Given the description of an element on the screen output the (x, y) to click on. 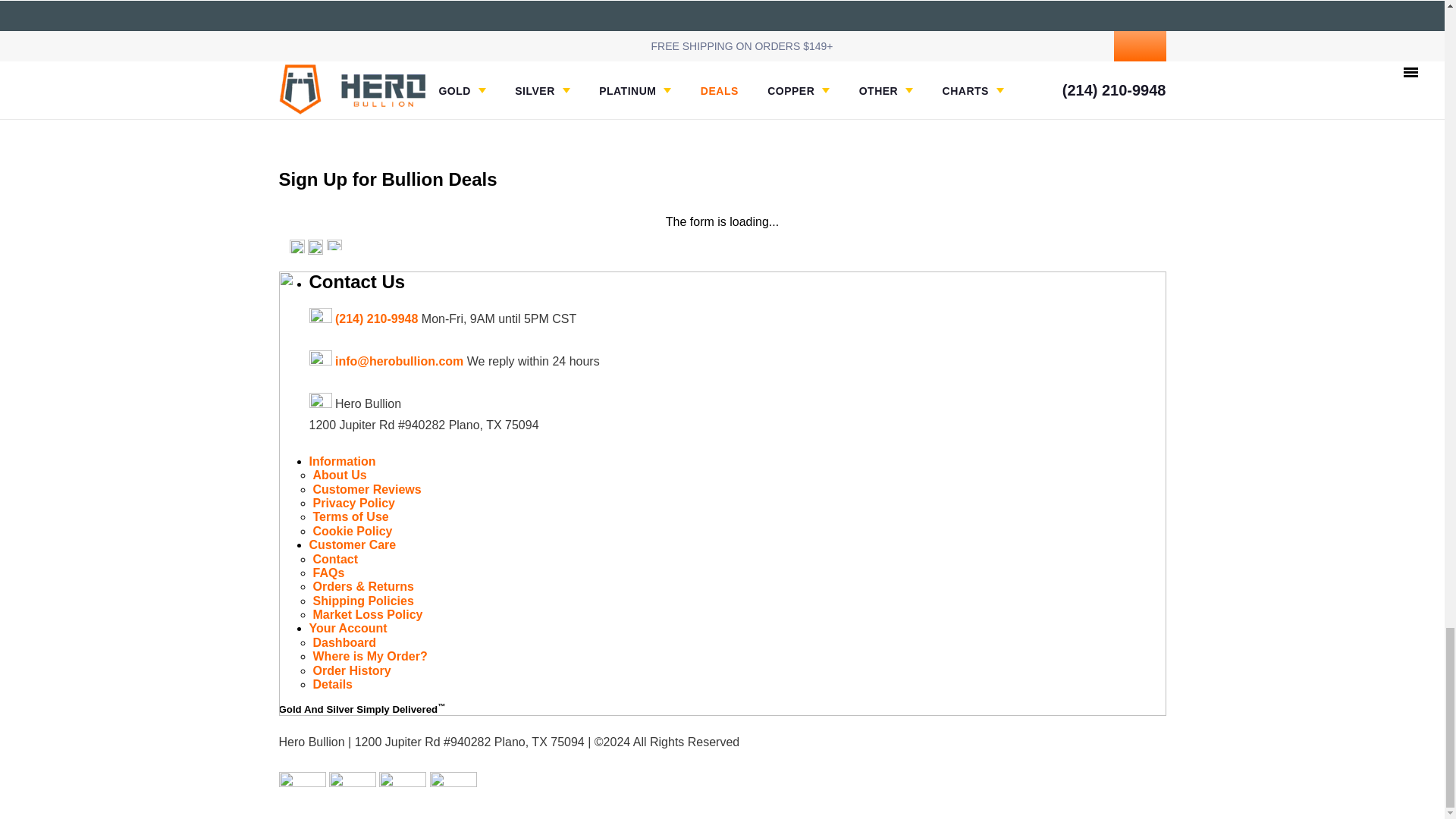
1 (689, 2)
